Given the description of an element on the screen output the (x, y) to click on. 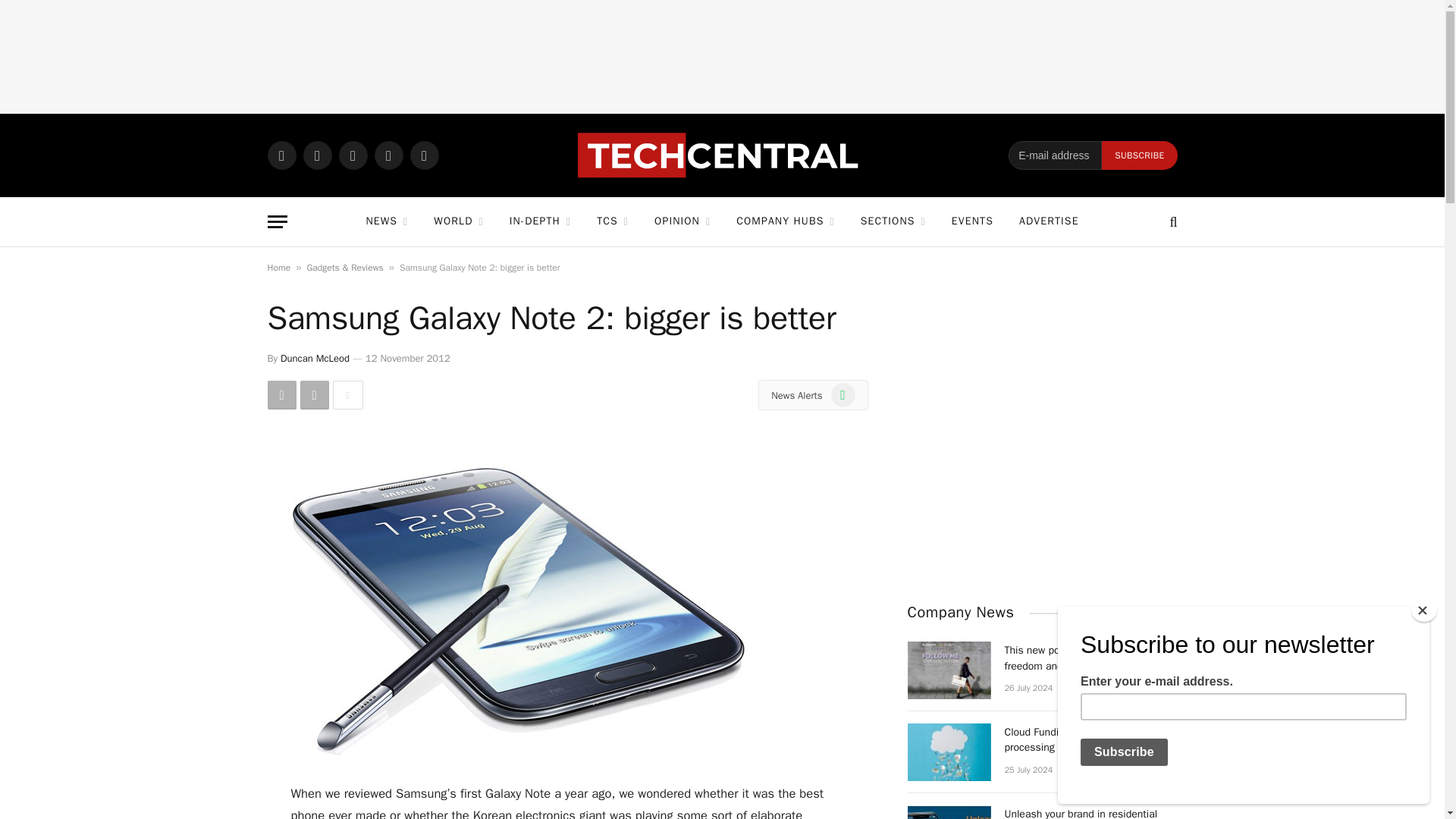
WhatsApp (280, 154)
YouTube (423, 154)
NEWS (386, 221)
3rd party ad content (722, 56)
Facebook (316, 154)
Subscribe (1139, 154)
TechCentral (722, 155)
IN-DEPTH (539, 221)
LinkedIn (388, 154)
Subscribe (1139, 154)
WORLD (458, 221)
